Given the description of an element on the screen output the (x, y) to click on. 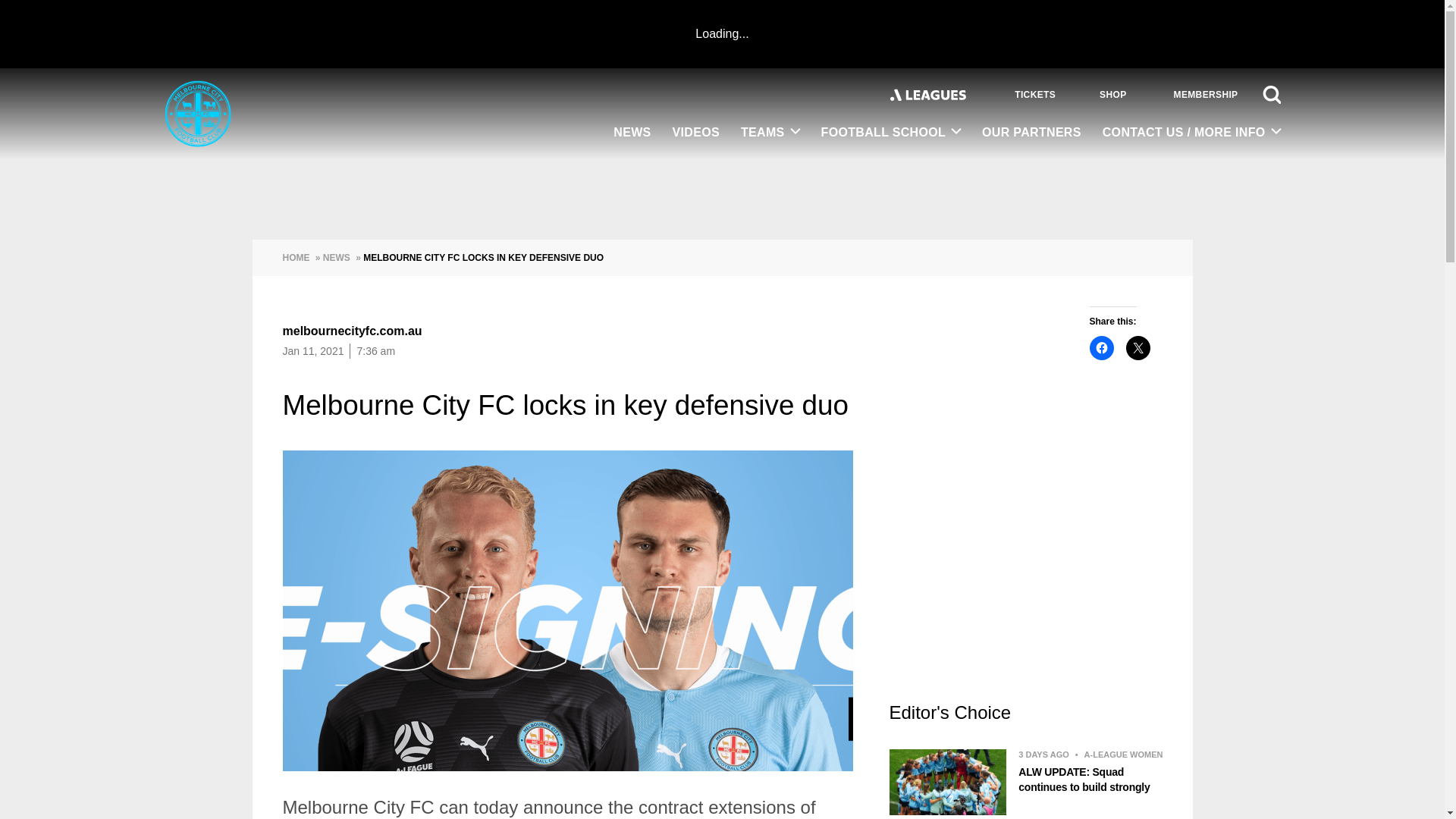
Click to share on Facebook (1101, 347)
VIDEOS (696, 133)
NEWS (631, 133)
TEAMS (770, 132)
Click to share on X (1137, 347)
FOOTBALL SCHOOL (891, 132)
OUR PARTNERS (1031, 133)
